Given the description of an element on the screen output the (x, y) to click on. 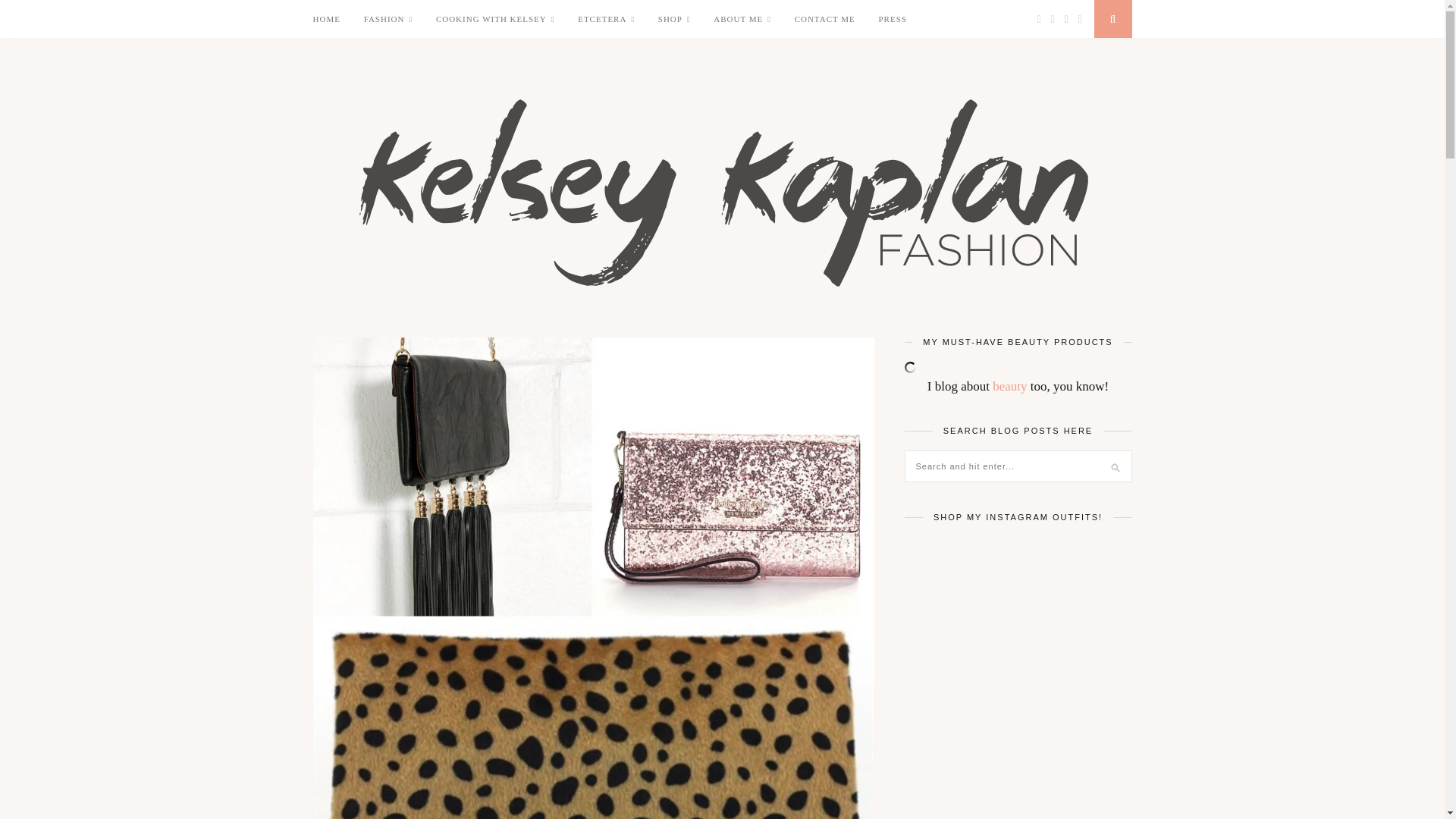
CONTACT ME (825, 18)
ABOUT ME (742, 19)
COOKING WITH KELSEY (494, 19)
FASHION (388, 19)
ETCETERA (606, 19)
